Given the description of an element on the screen output the (x, y) to click on. 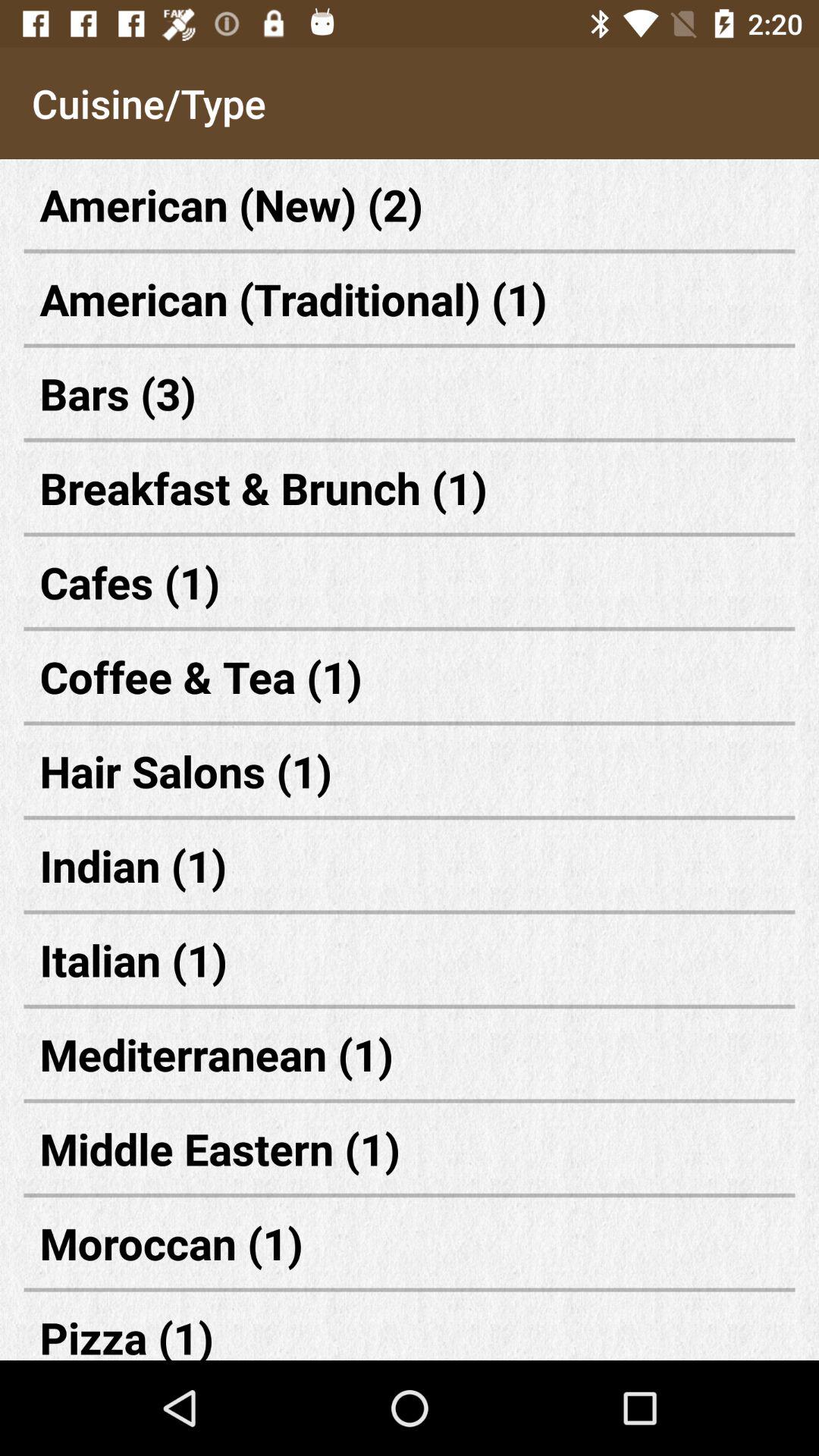
select indian (1) item (409, 865)
